Given the description of an element on the screen output the (x, y) to click on. 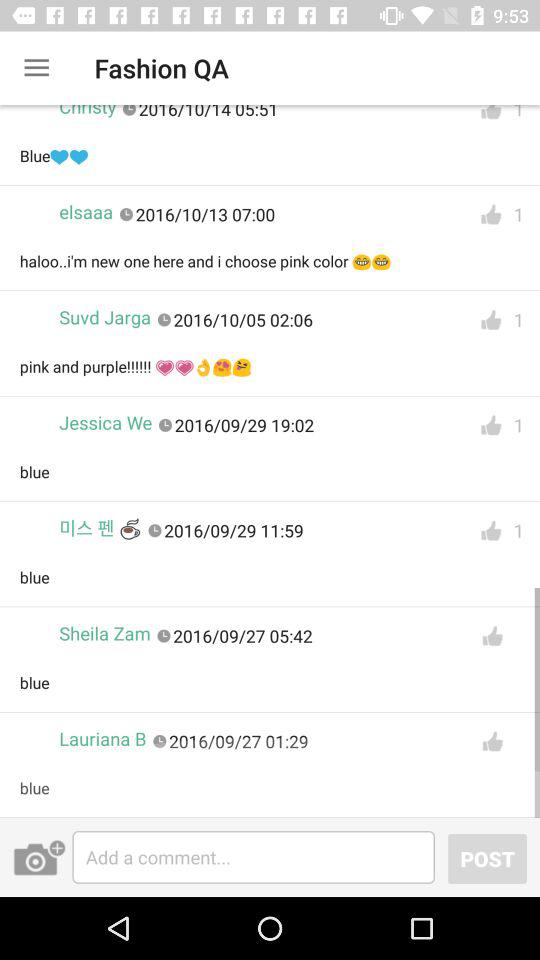
like the message (491, 425)
